Given the description of an element on the screen output the (x, y) to click on. 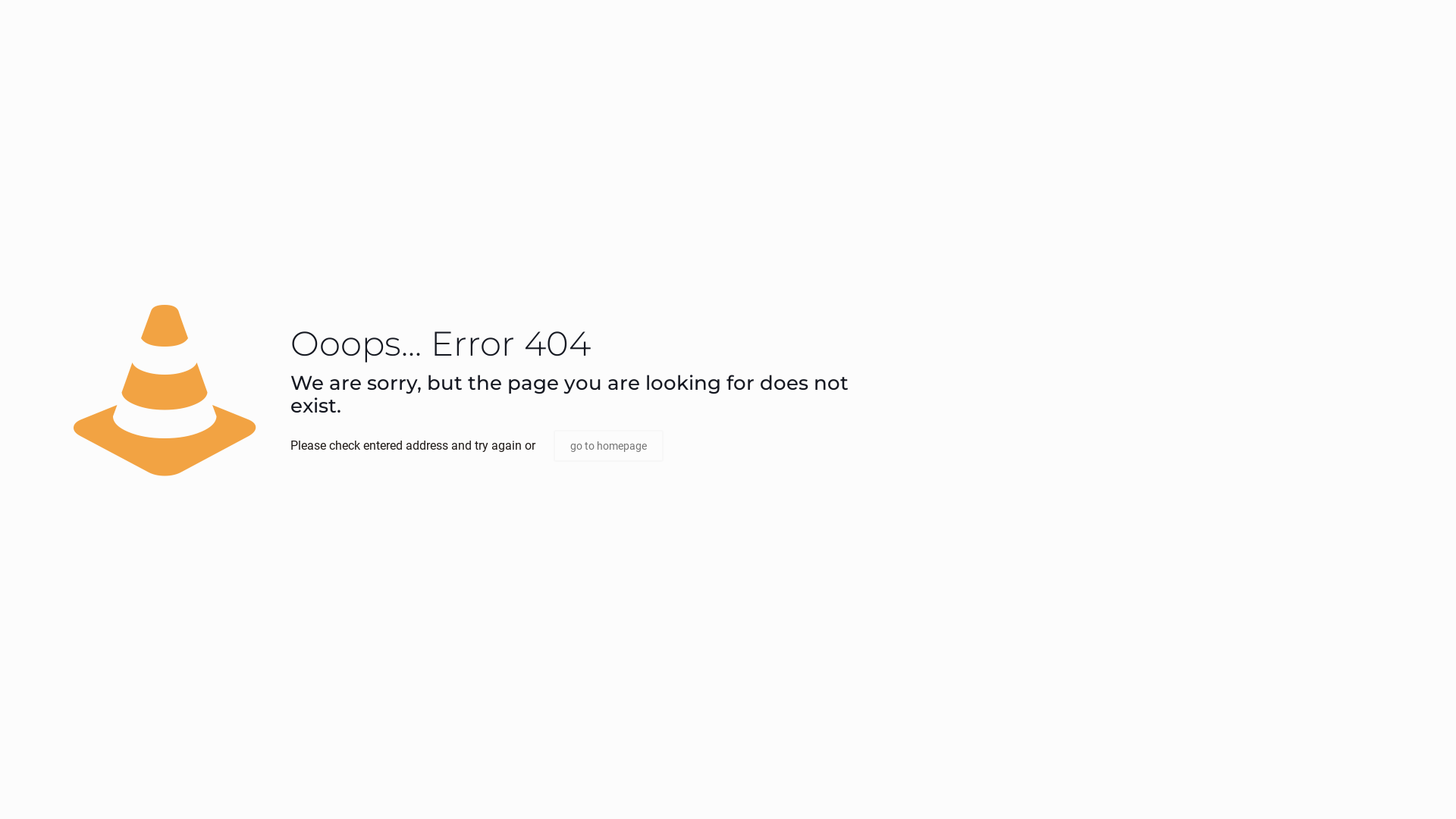
go to homepage Element type: text (608, 445)
